Given the description of an element on the screen output the (x, y) to click on. 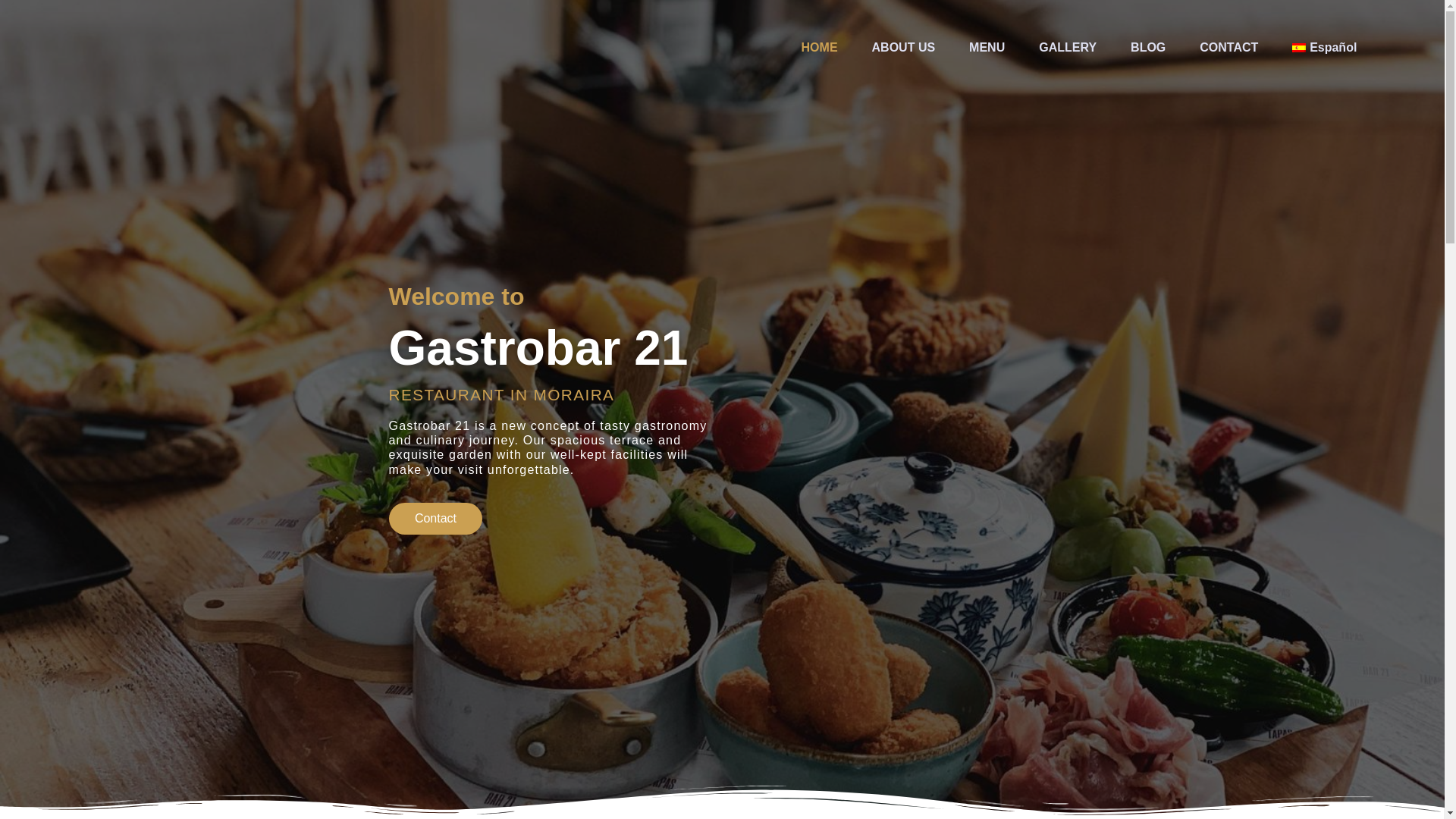
ABOUT US (903, 47)
MENU (986, 47)
GALLERY (1067, 47)
HOME (819, 47)
Contact (434, 518)
BLOG (1147, 47)
CONTACT (1228, 47)
